Given the description of an element on the screen output the (x, y) to click on. 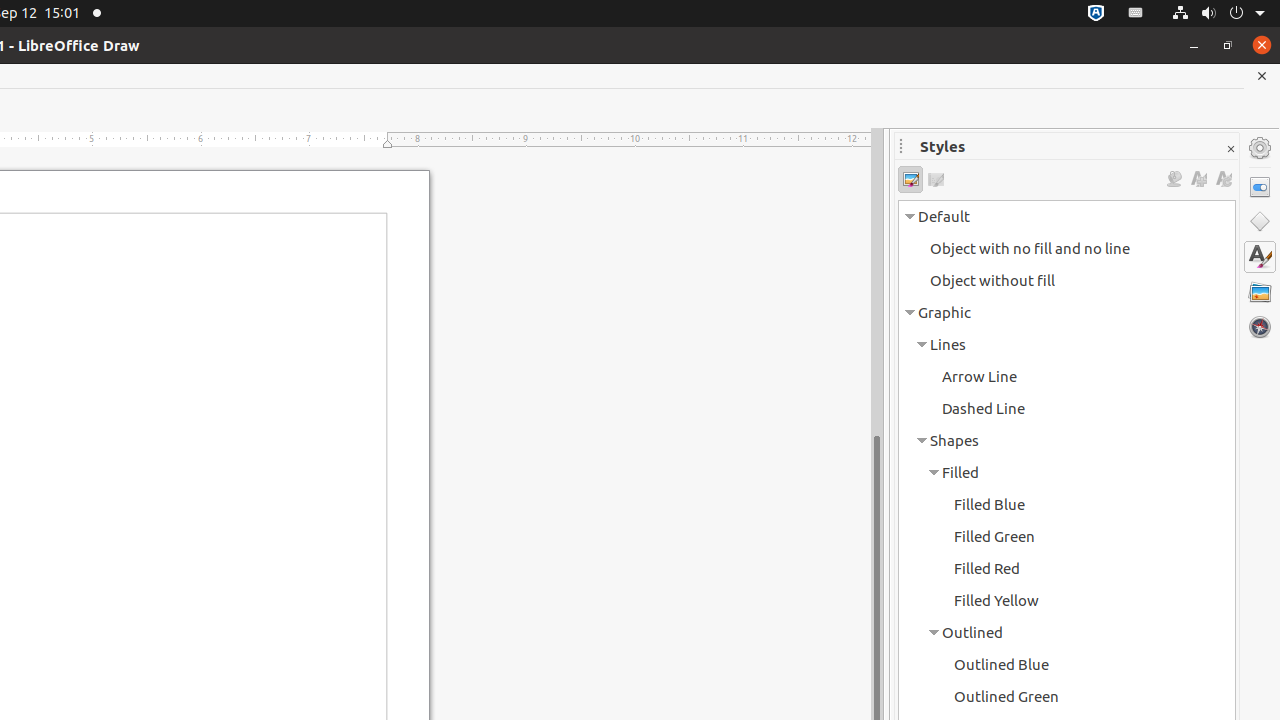
New Style from Selection Element type: push-button (1198, 179)
Shapes Element type: radio-button (1260, 222)
Fill Format Mode Element type: push-button (1173, 179)
Close Sidebar Deck Element type: push-button (1230, 149)
Styles Element type: radio-button (1260, 256)
